Given the description of an element on the screen output the (x, y) to click on. 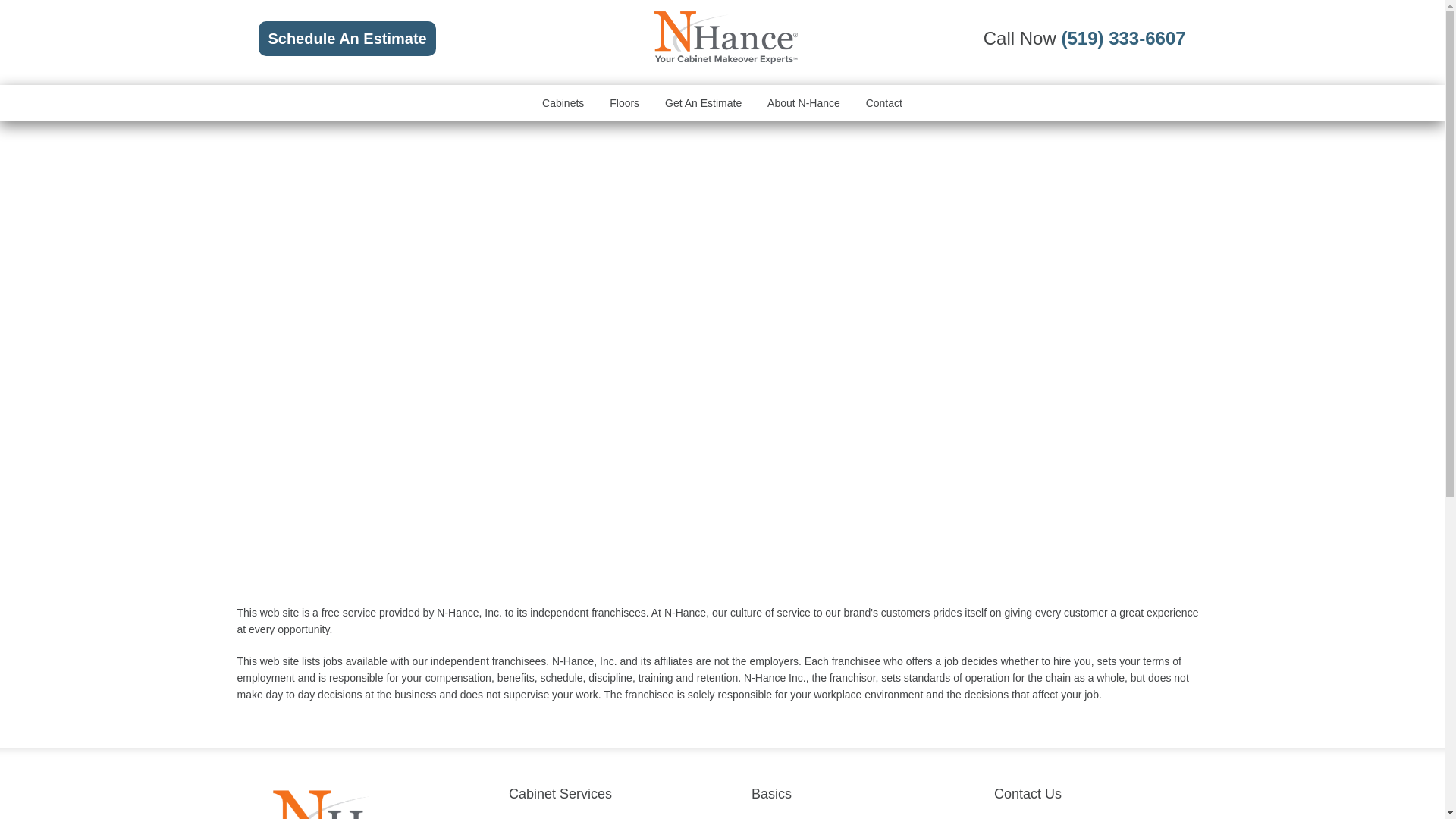
Floor Refinishing (624, 102)
Contact (884, 102)
Schedule An Estimate (347, 38)
About N-Hance (803, 102)
Get An Estimate (703, 102)
Schedule An Estimate (347, 38)
Floors (624, 102)
N-Hance Wood Refinishing Home Page (724, 60)
Cabinets (562, 102)
About N-Hance (803, 102)
